Given the description of an element on the screen output the (x, y) to click on. 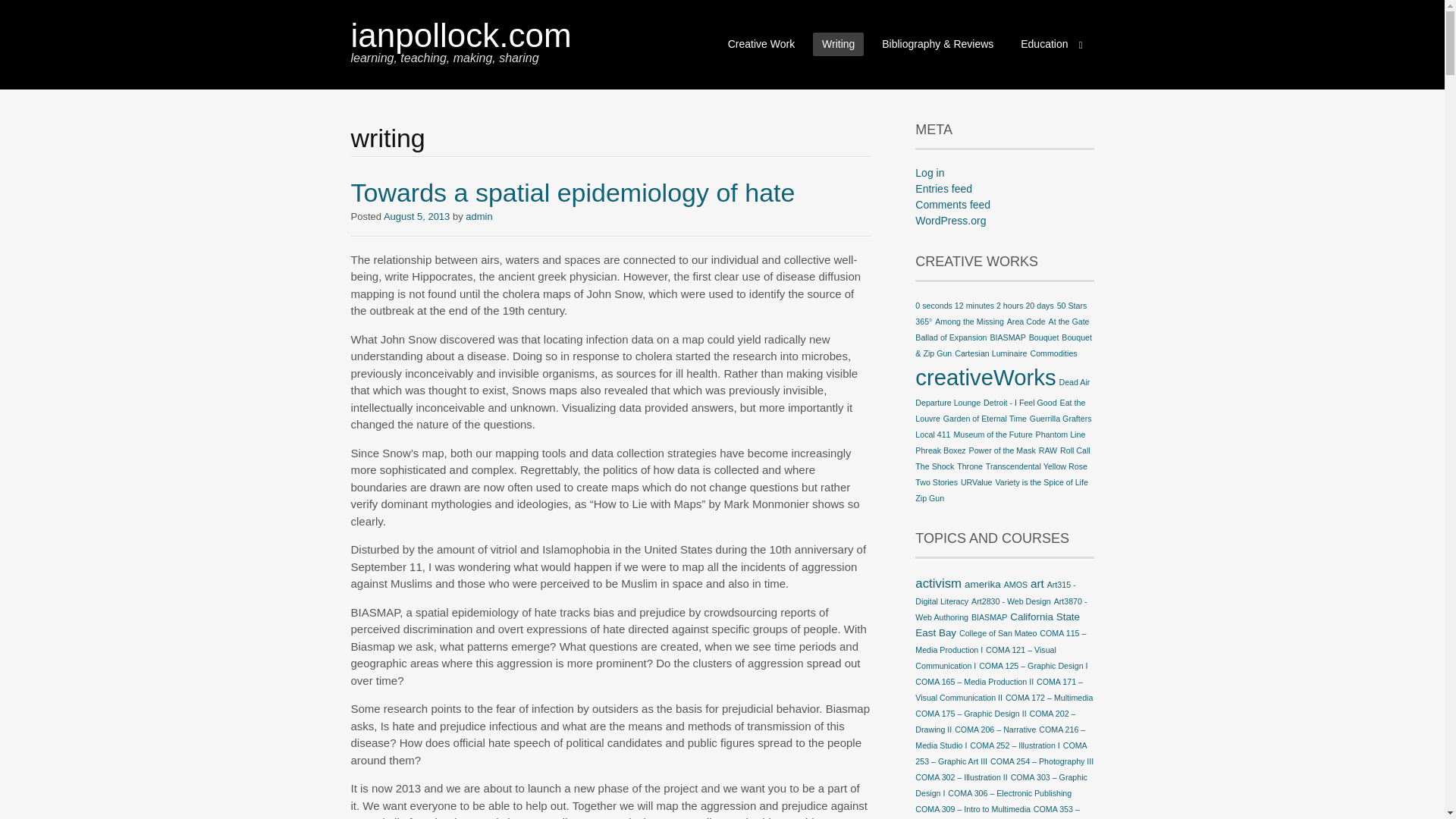
admin (478, 215)
Education (1050, 44)
Writing (837, 44)
August 5, 2013 (416, 215)
Creative Work (761, 44)
View all posts by admin (478, 215)
Towards a spatial epidemiology of hate (572, 192)
Skip to content (727, 36)
ianpollock.com (460, 35)
